Given the description of an element on the screen output the (x, y) to click on. 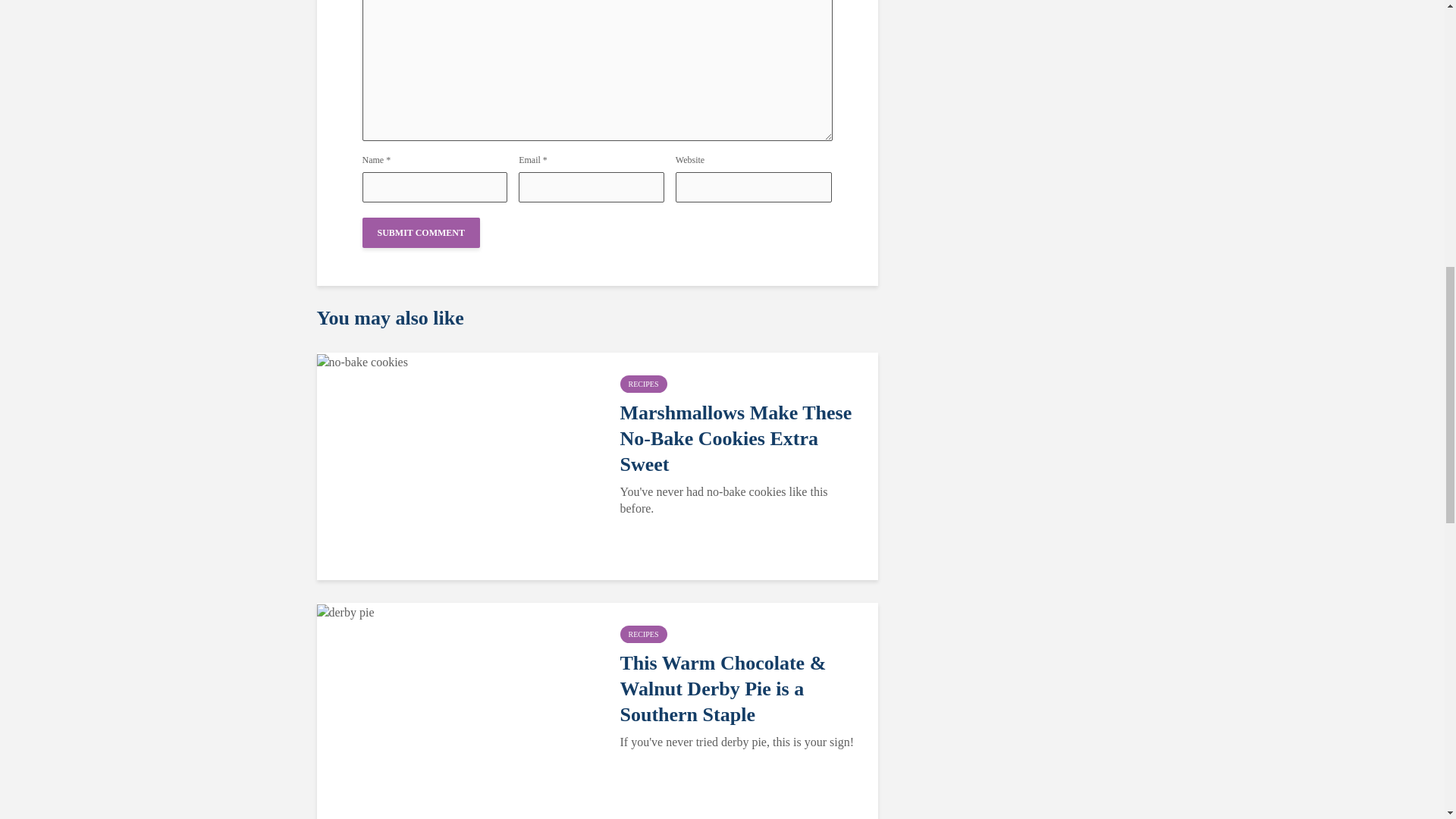
RECIPES (643, 384)
Marshmallows Make These No-Bake Cookies Extra Sweet (740, 438)
Submit Comment (421, 232)
Submit Comment (421, 232)
Marshmallows Make These No-Bake Cookies Extra Sweet (362, 359)
RECIPES (643, 633)
